Given the description of an element on the screen output the (x, y) to click on. 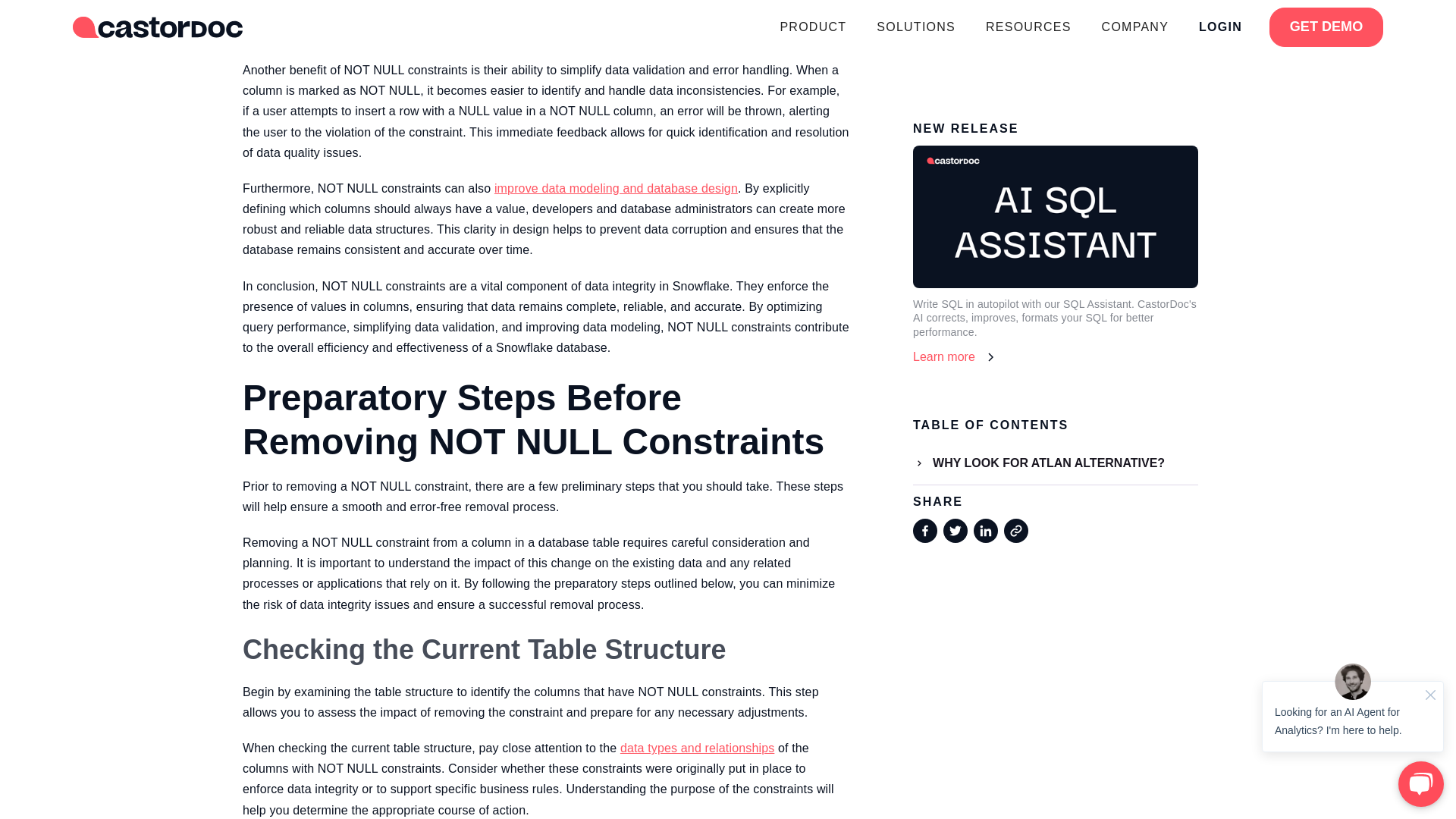
optimize operations and improve overall query execution time (537, 9)
improve data modeling and database design (616, 187)
data types and relationships (697, 748)
